Given the description of an element on the screen output the (x, y) to click on. 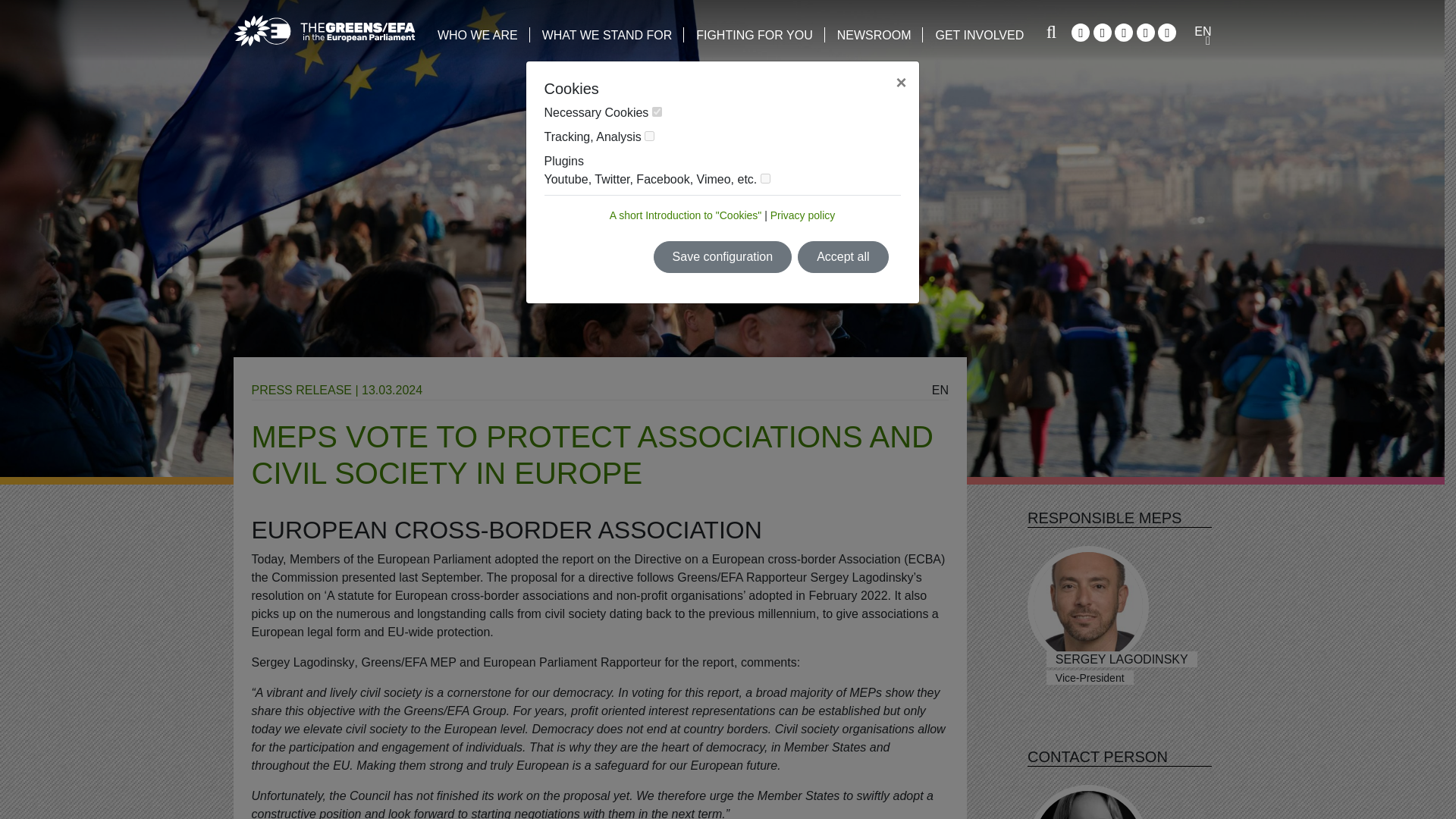
1 (657, 112)
2 (649, 135)
4 (765, 178)
